Given the description of an element on the screen output the (x, y) to click on. 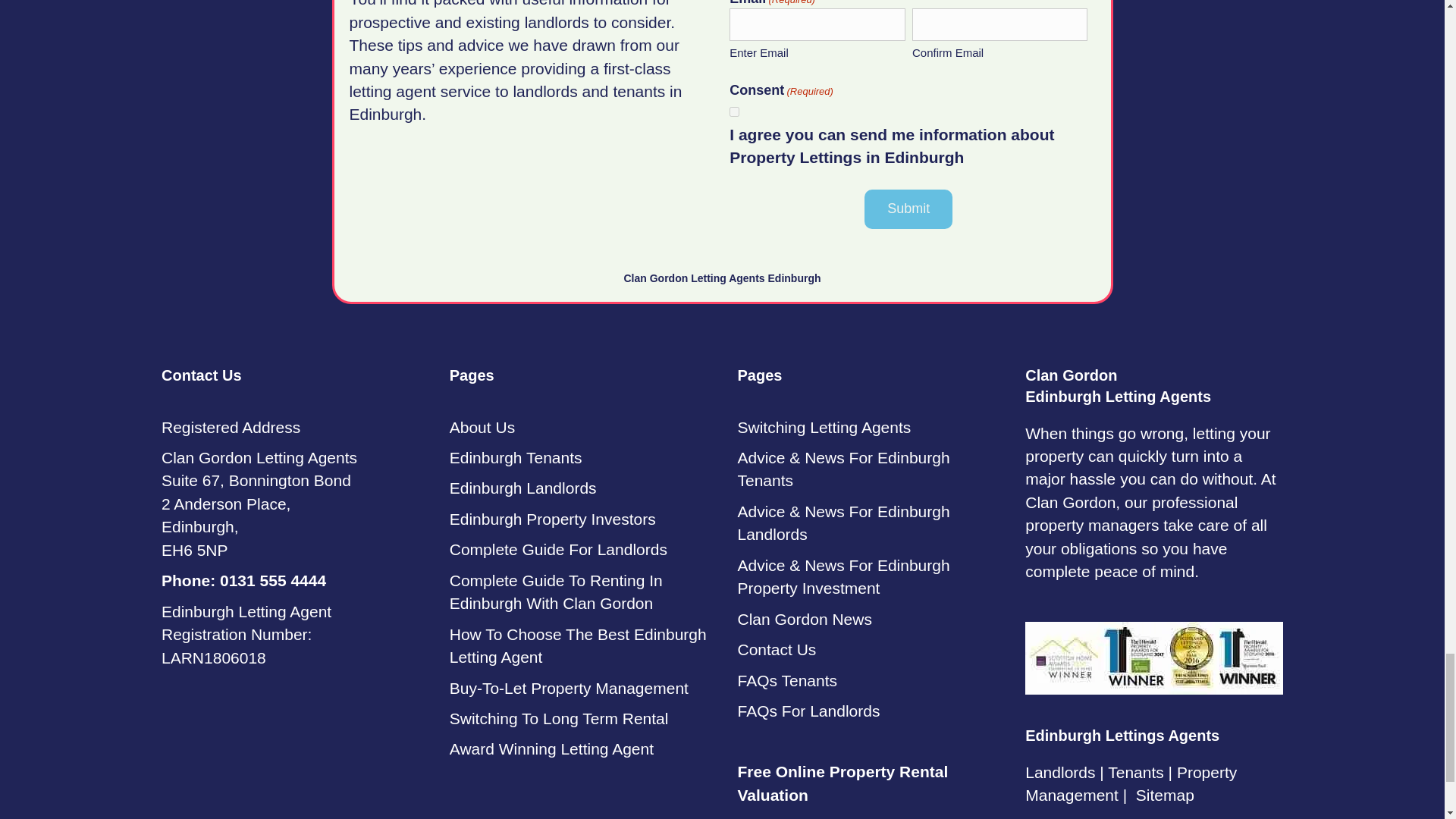
Buy-To-Let Property Management (568, 687)
Submit (908, 209)
Free Online Property Rental Valuation  (841, 782)
Award Winning Letting Agent (551, 748)
Edinburgh Property Investors (552, 518)
Contact Us (775, 649)
Switching To Long Term Rental (558, 718)
Edinburgh Landlords (522, 487)
Clan Gordon Letting Agents Edinburgh (722, 277)
Clan Gordon News (803, 619)
